Given the description of an element on the screen output the (x, y) to click on. 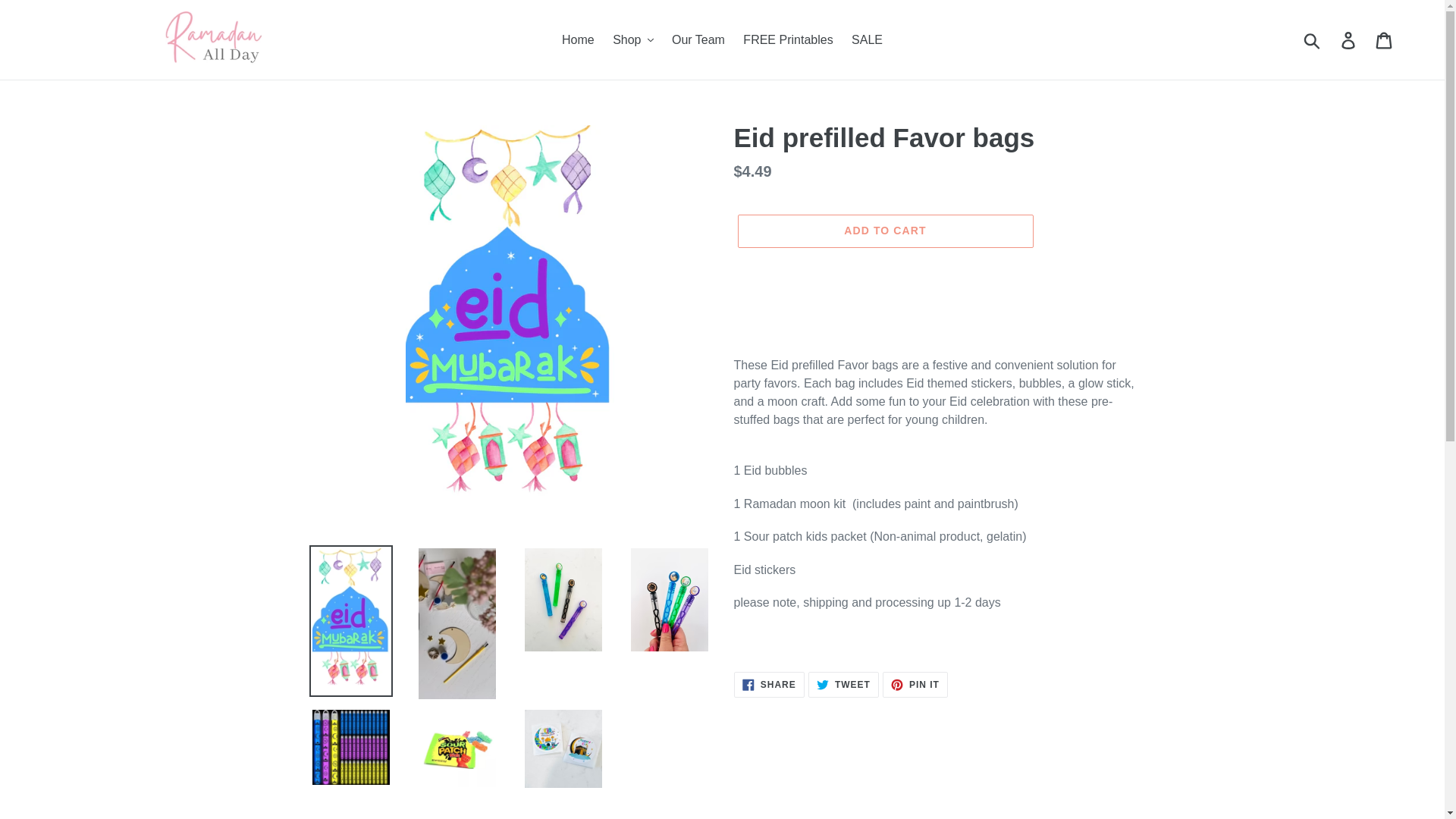
Home (578, 39)
Submit (1313, 39)
Log in (1349, 39)
SALE (866, 39)
Our Team (697, 39)
FREE Printables (787, 39)
